Given the description of an element on the screen output the (x, y) to click on. 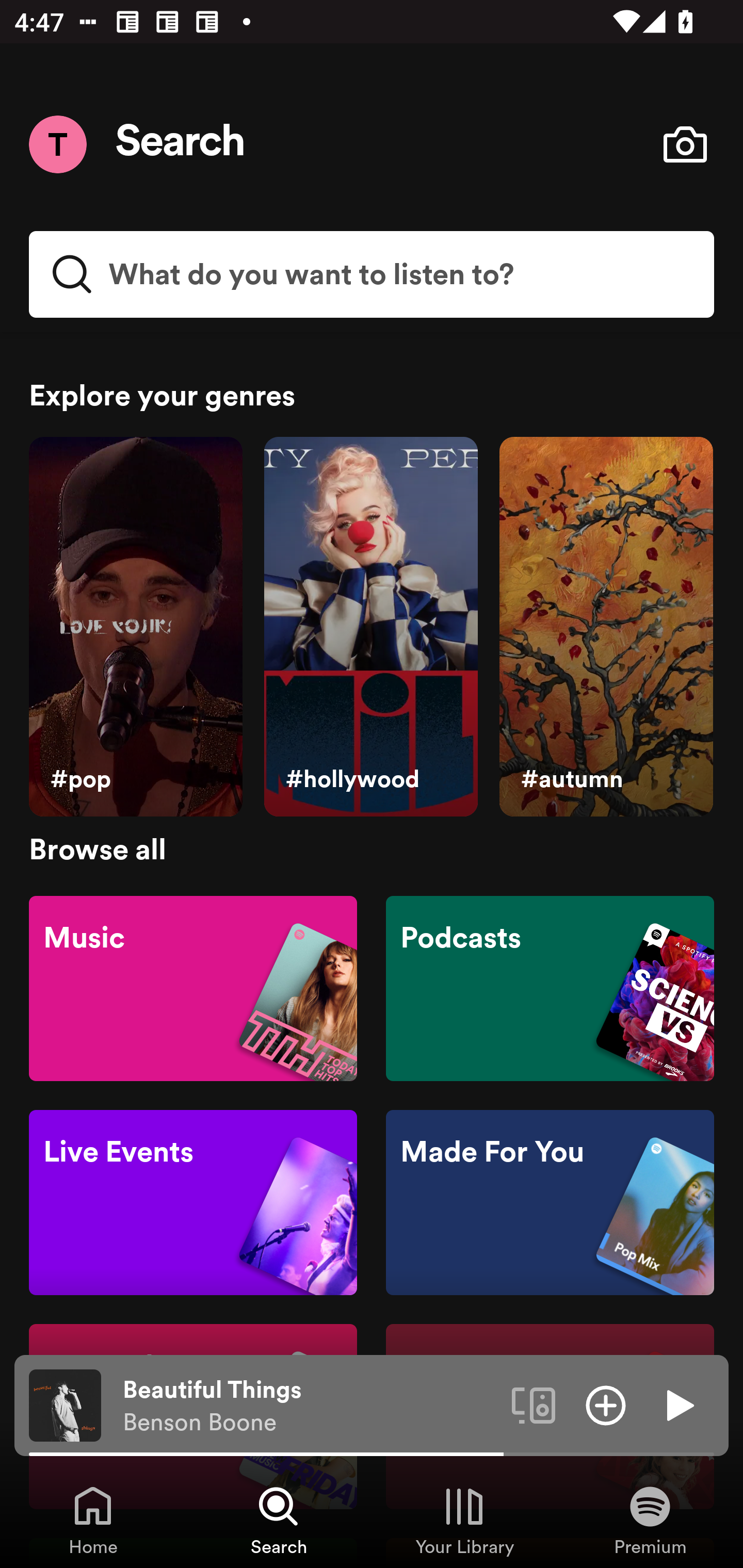
Menu (57, 144)
Open camera (685, 145)
Search (180, 144)
#pop (135, 626)
#hollywood (370, 626)
#autumn (606, 626)
Music (192, 987)
Podcasts (549, 987)
Live Events (192, 1202)
Made For You (549, 1202)
Beautiful Things Benson Boone (309, 1405)
The cover art of the currently playing track (64, 1404)
Connect to a device. Opens the devices menu (533, 1404)
Add item (605, 1404)
Play (677, 1404)
Home, Tab 1 of 4 Home Home (92, 1519)
Search, Tab 2 of 4 Search Search (278, 1519)
Your Library, Tab 3 of 4 Your Library Your Library (464, 1519)
Premium, Tab 4 of 4 Premium Premium (650, 1519)
